Given the description of an element on the screen output the (x, y) to click on. 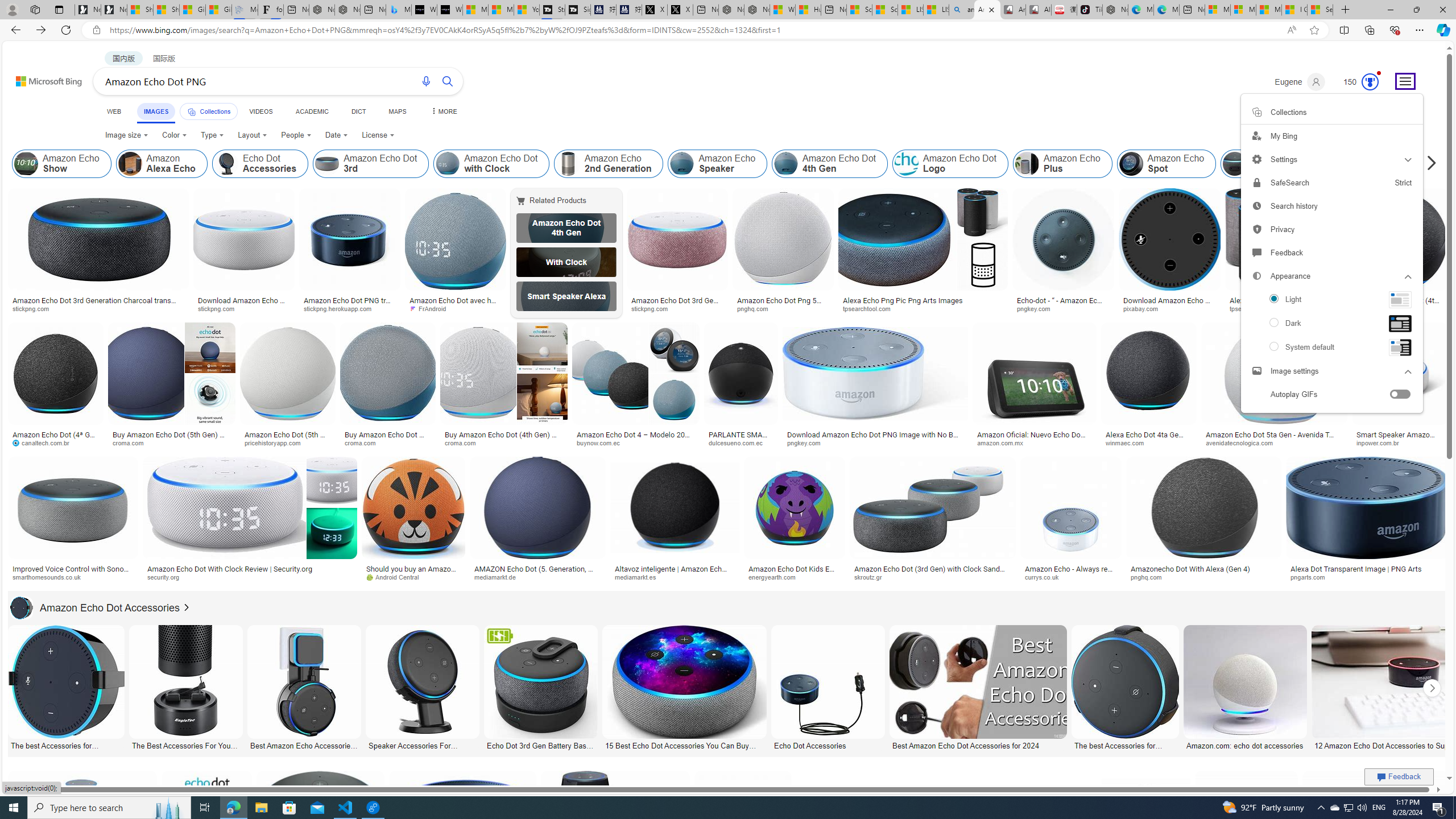
IMAGES (156, 111)
pngarts.com (1366, 576)
Light (1331, 299)
pngkey.com (875, 442)
Echo Dot Accessories (226, 163)
Amazon Echo Plus (1026, 163)
amazon.com.mx (1034, 442)
Dark (1331, 323)
